Given the description of an element on the screen output the (x, y) to click on. 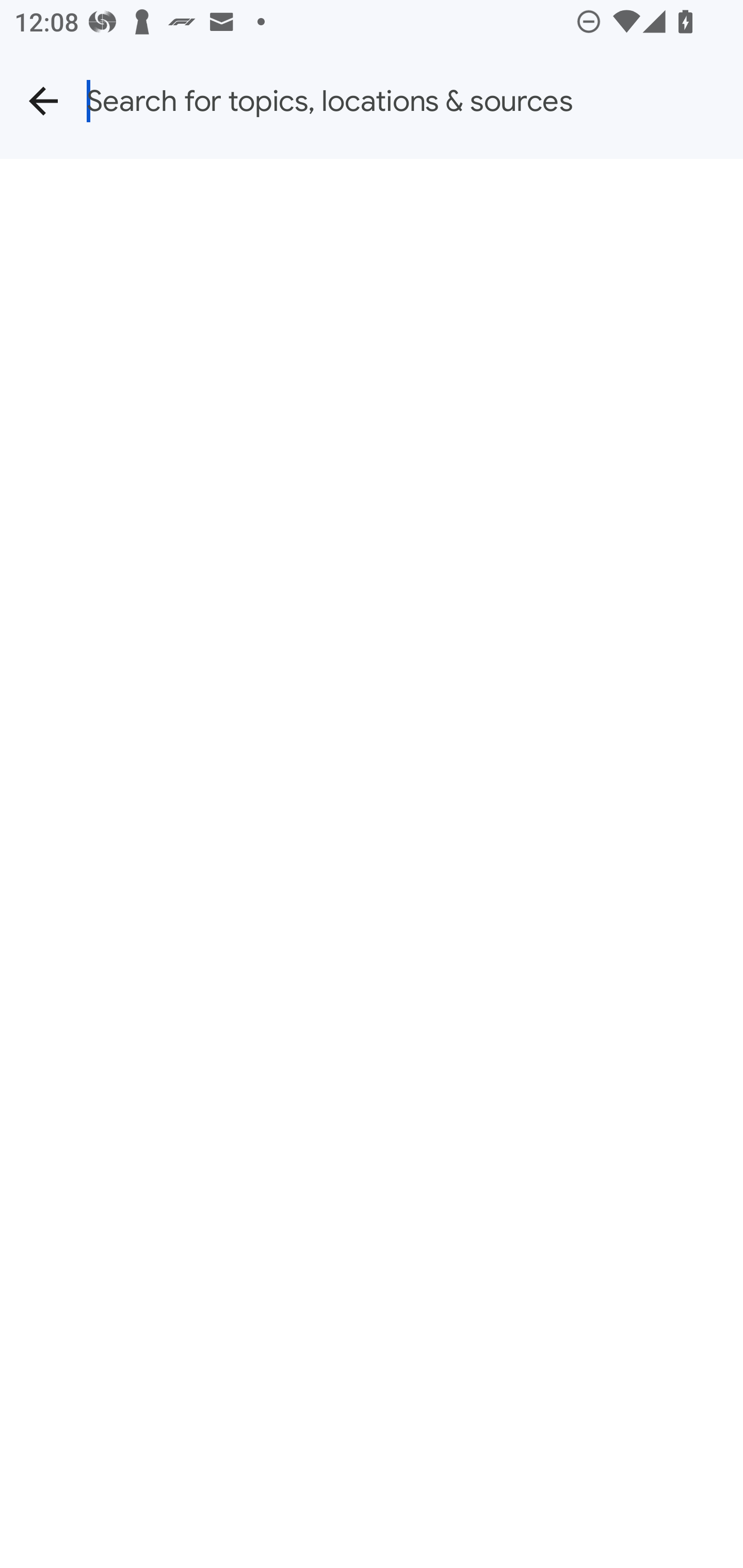
Back (43, 101)
Search for topics, locations & sources (414, 101)
